Given the description of an element on the screen output the (x, y) to click on. 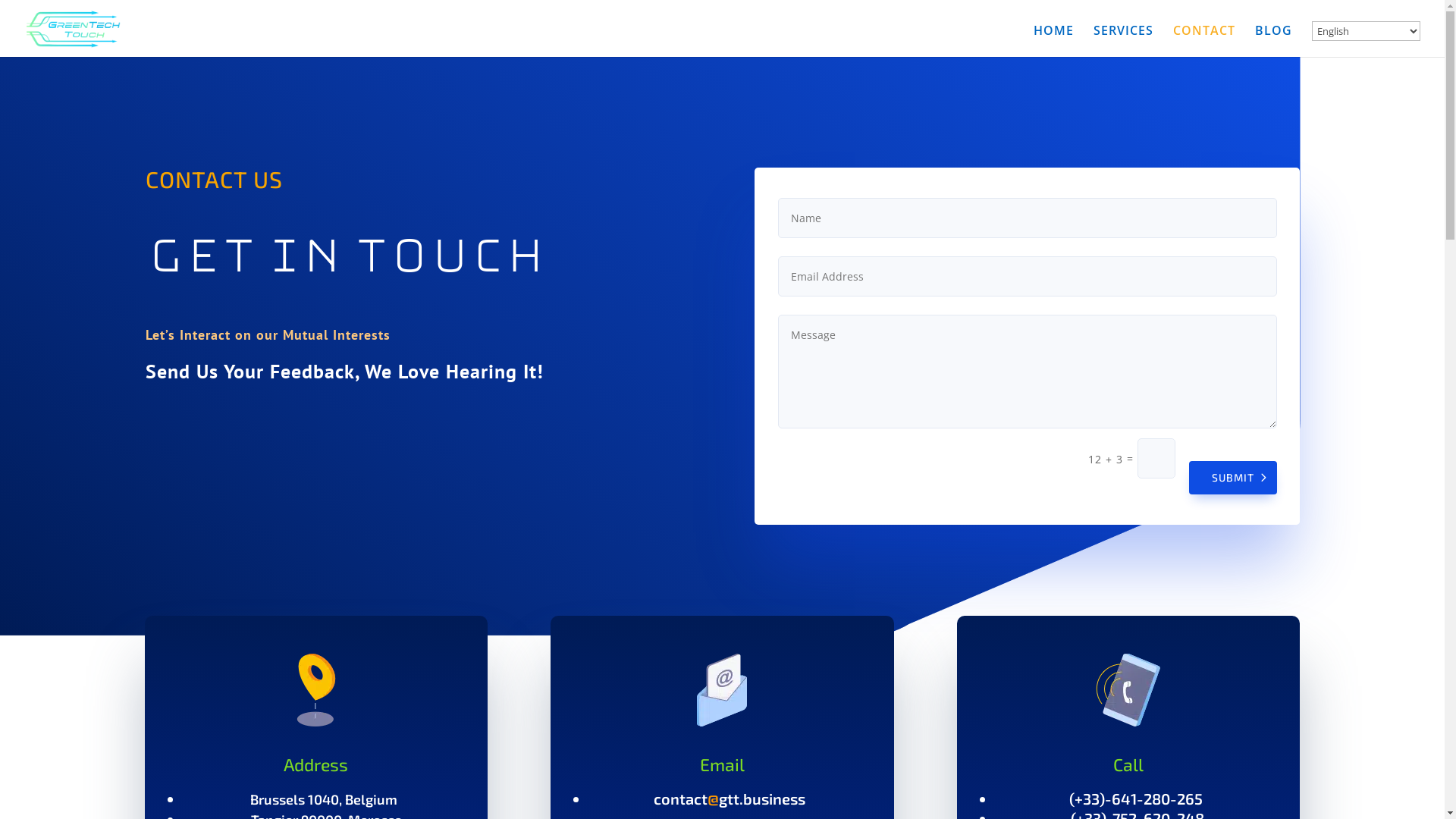
CONTACT Element type: text (1204, 40)
BLOG Element type: text (1273, 40)
SUBMIT Element type: text (1233, 477)
HOME Element type: text (1053, 40)
SERVICES Element type: text (1123, 40)
